Given the description of an element on the screen output the (x, y) to click on. 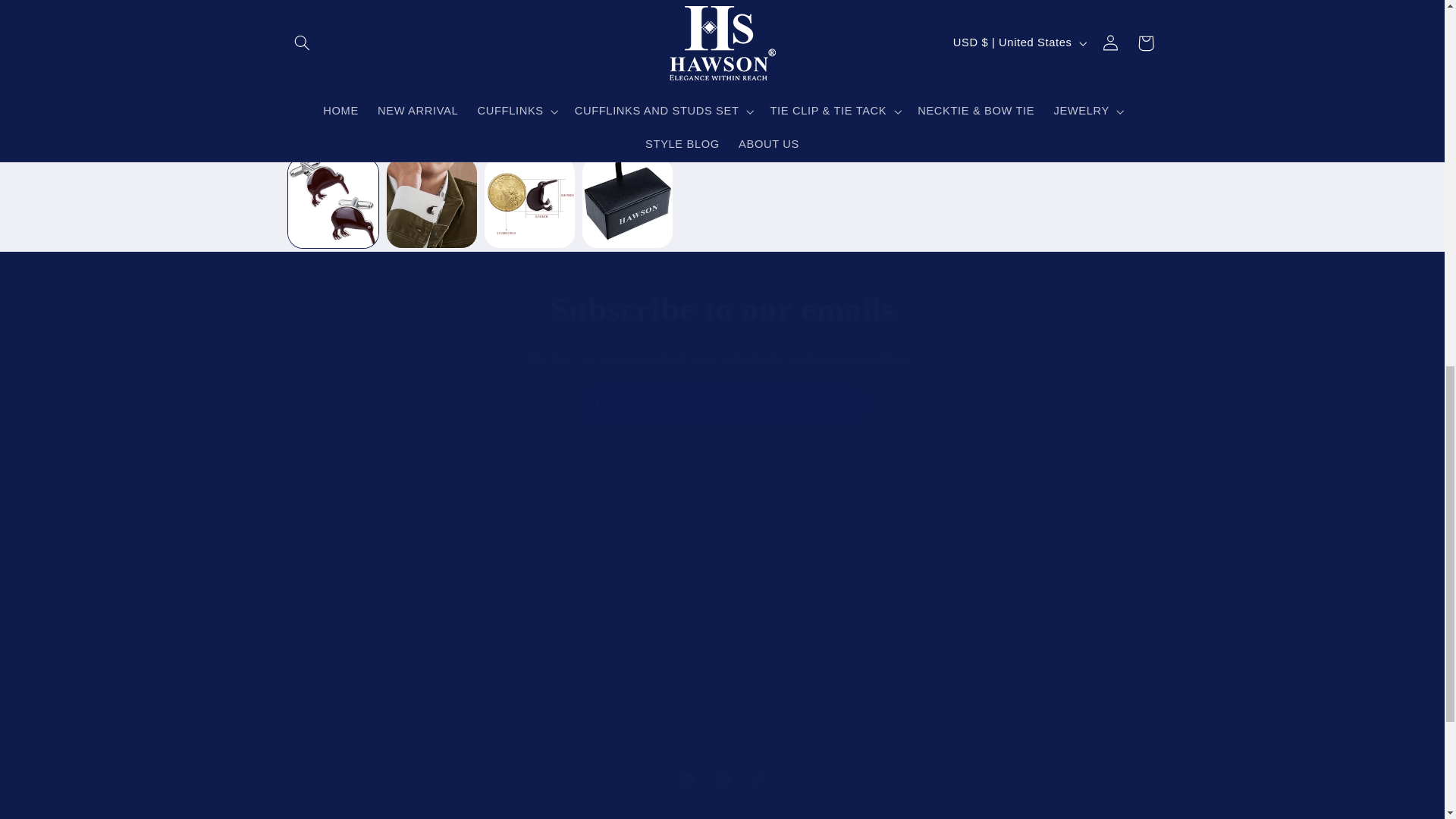
Subscribe to our emails (722, 310)
Email (722, 404)
